Given the description of an element on the screen output the (x, y) to click on. 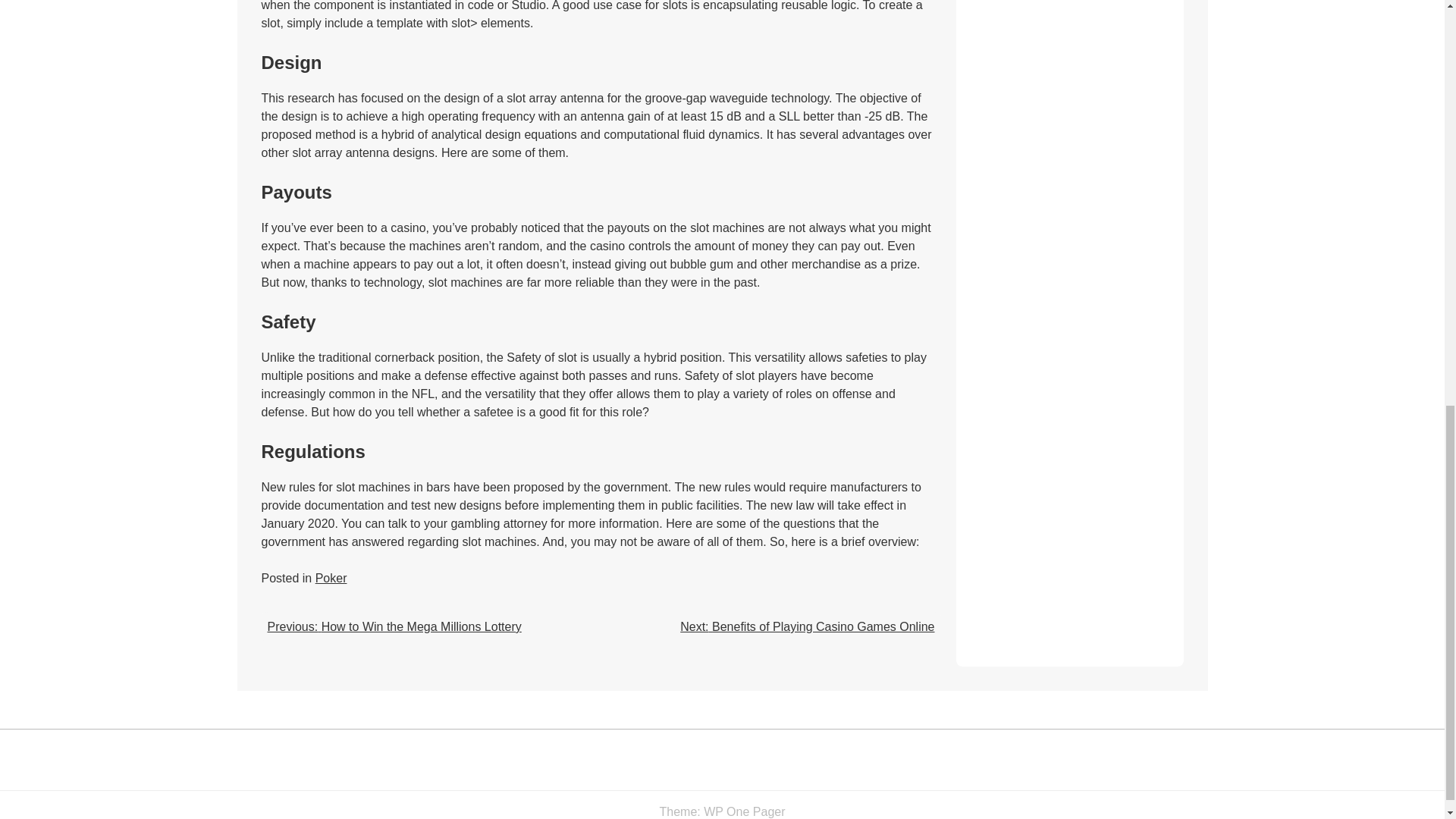
Next: Benefits of Playing Casino Games Online (806, 626)
Poker (331, 577)
Previous: How to Win the Mega Millions Lottery (393, 626)
WP One Pager (743, 811)
